Given the description of an element on the screen output the (x, y) to click on. 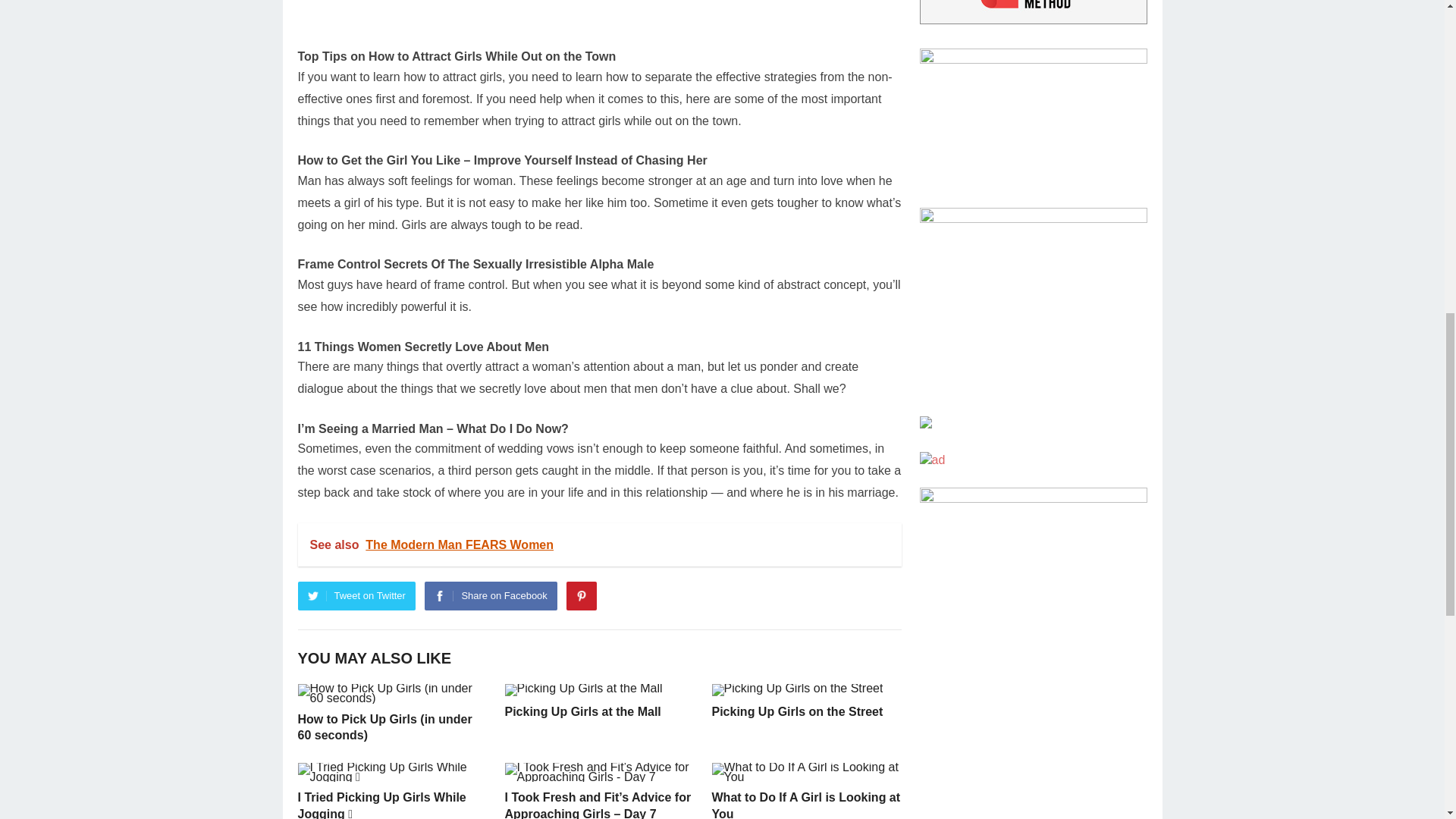
Share on Facebook (490, 595)
Picking Up Girls at the Mall 4 (583, 689)
See also  The Modern Man FEARS Women (599, 545)
What to Do If A Girl is Looking at You 12 (805, 772)
Picking Up Girls on the Street 6 (796, 689)
Picking Up Girls at the Mall (583, 711)
Pinterest (581, 595)
Picking Up Girls on the Street (796, 711)
Tweet on Twitter (355, 595)
